Given the description of an element on the screen output the (x, y) to click on. 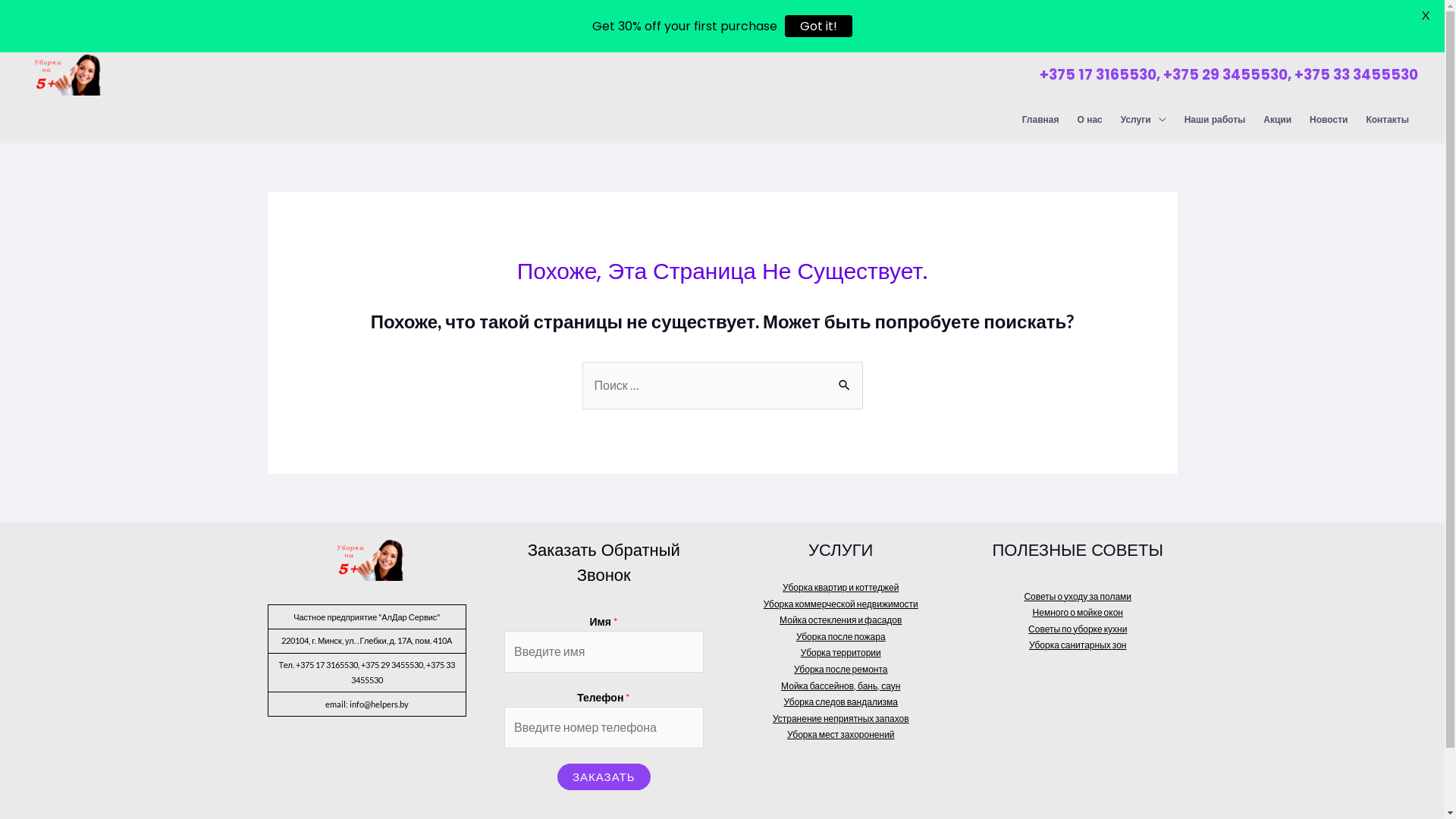
X Element type: text (1425, 14)
Got it! Element type: text (818, 26)
